Given the description of an element on the screen output the (x, y) to click on. 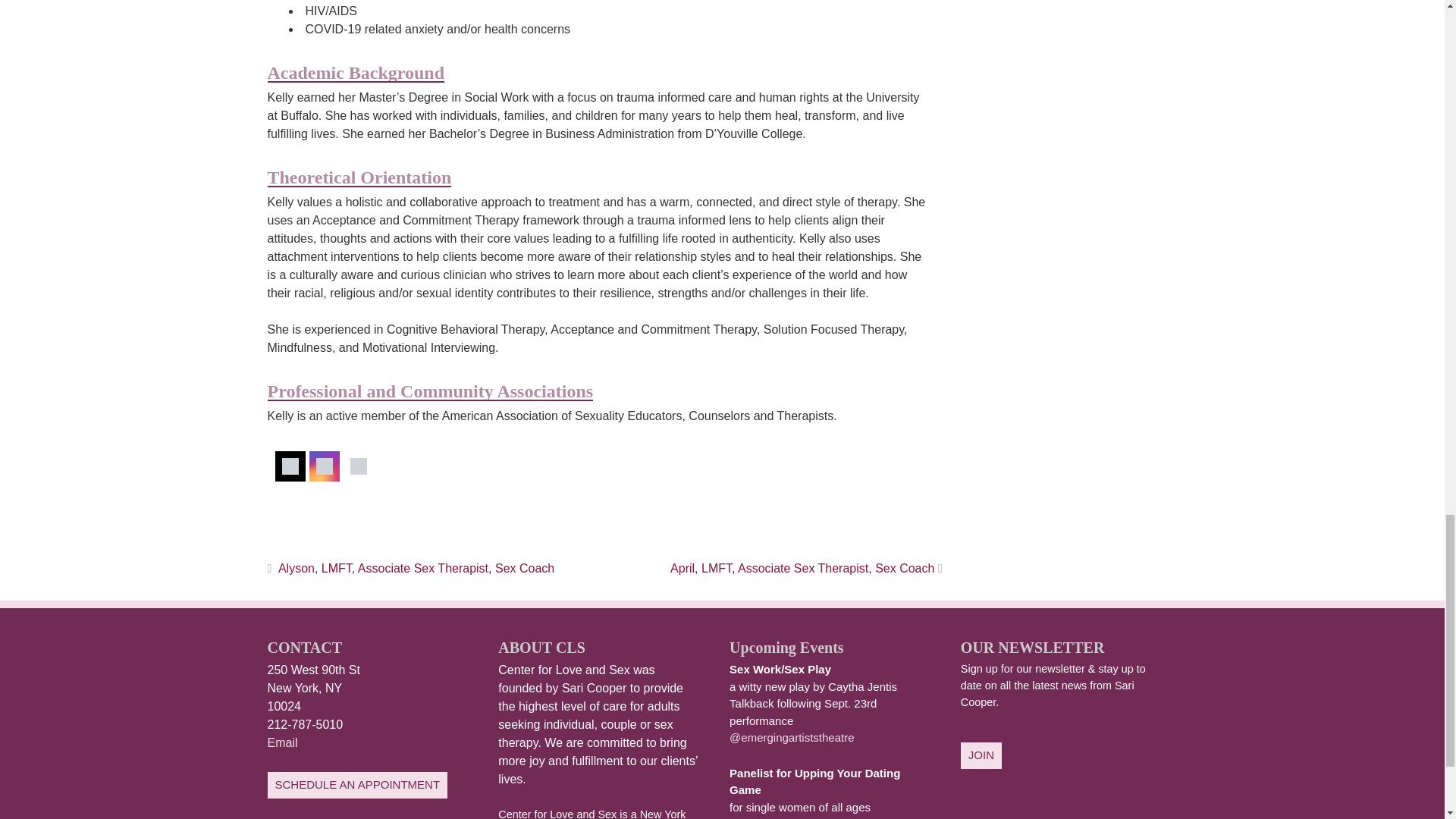
INSTAGRAM (323, 466)
Twitter (290, 466)
SOCIALICON (358, 466)
